Given the description of an element on the screen output the (x, y) to click on. 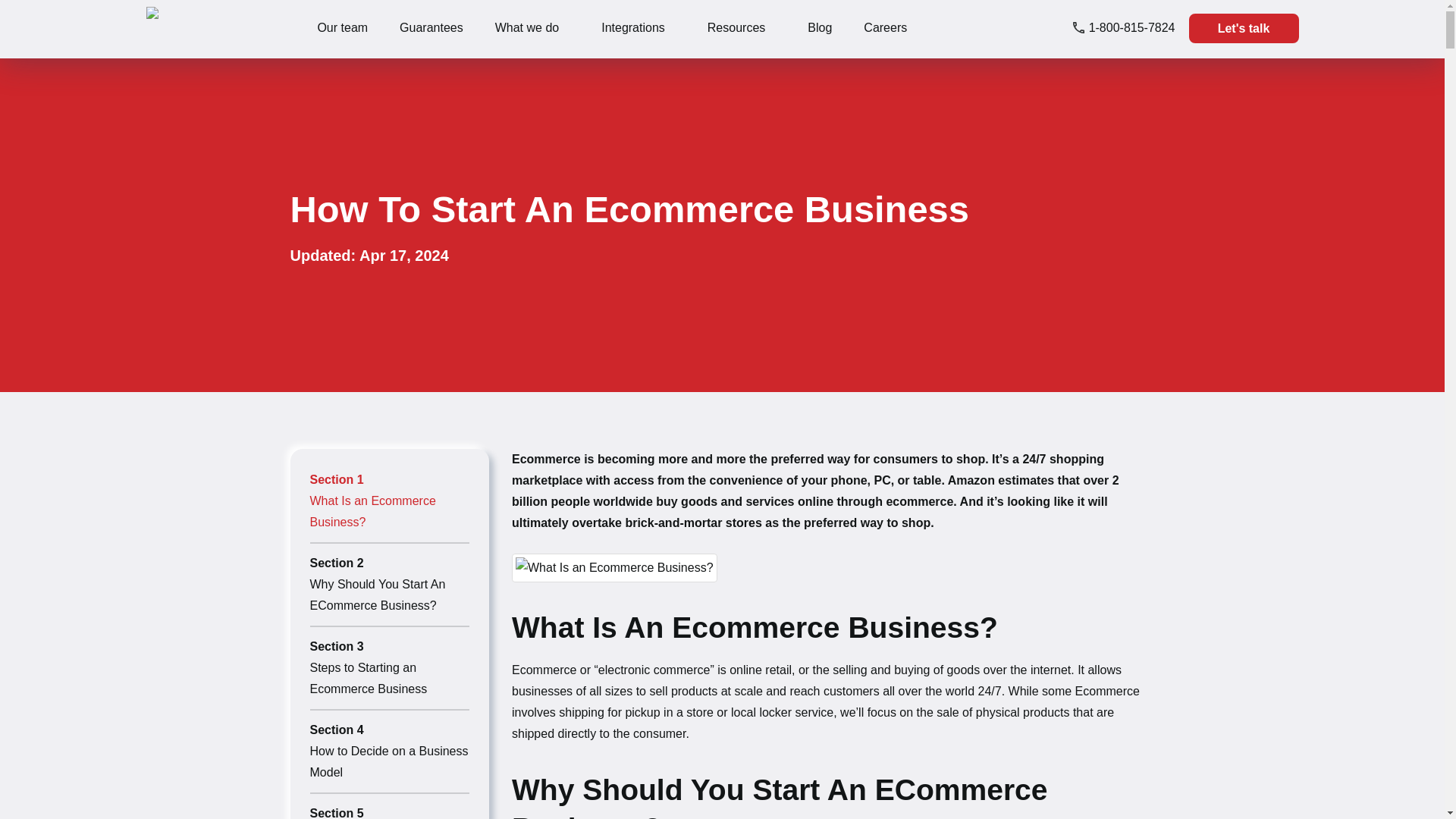
Integrations (633, 28)
What we do (527, 28)
1-800-815-7824 (1124, 27)
Let's talk (1243, 28)
Resources (736, 28)
Our team (342, 28)
Guarantees (430, 28)
Careers (885, 28)
